Given the description of an element on the screen output the (x, y) to click on. 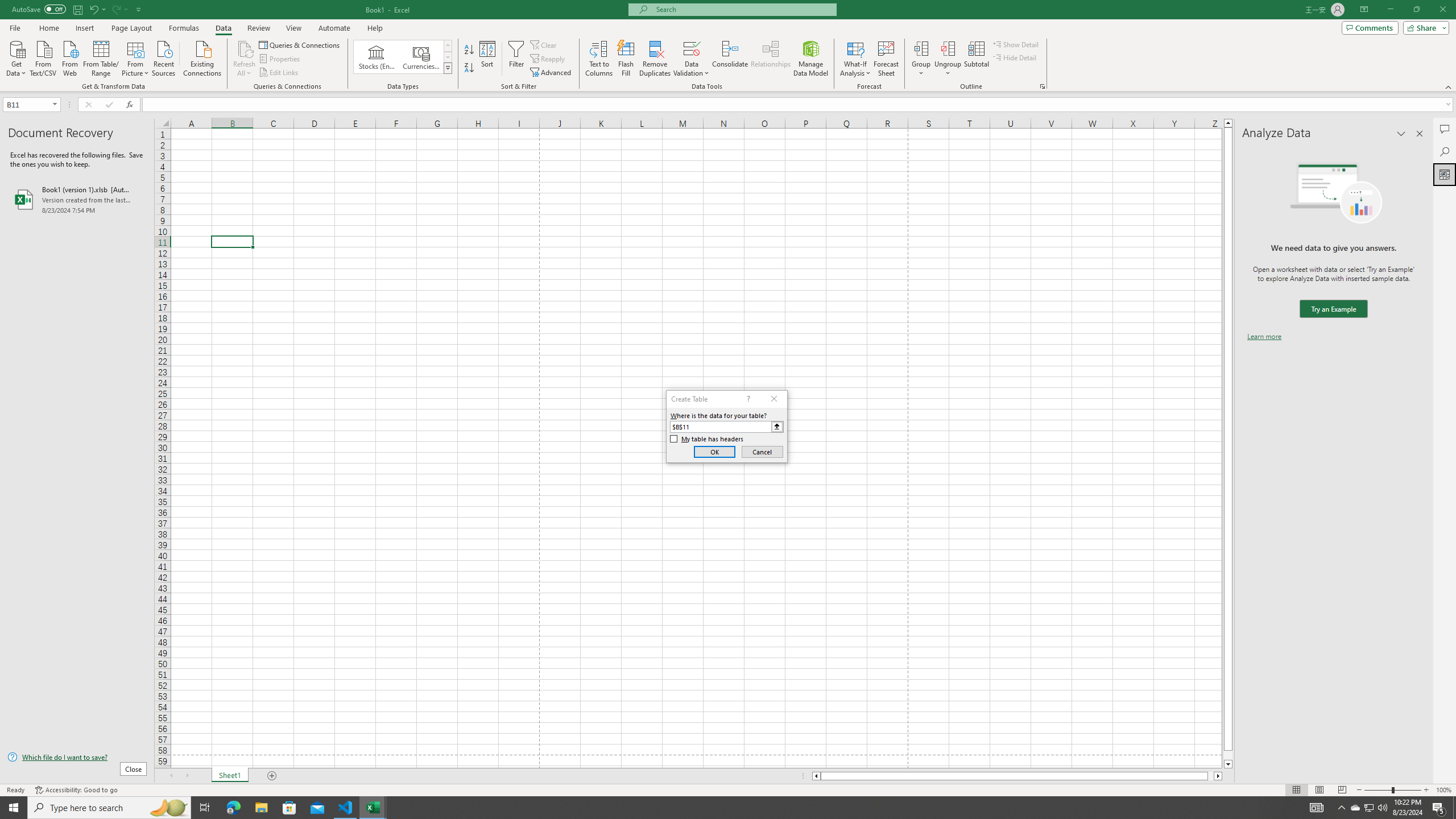
Consolidate... (729, 58)
